Given the description of an element on the screen output the (x, y) to click on. 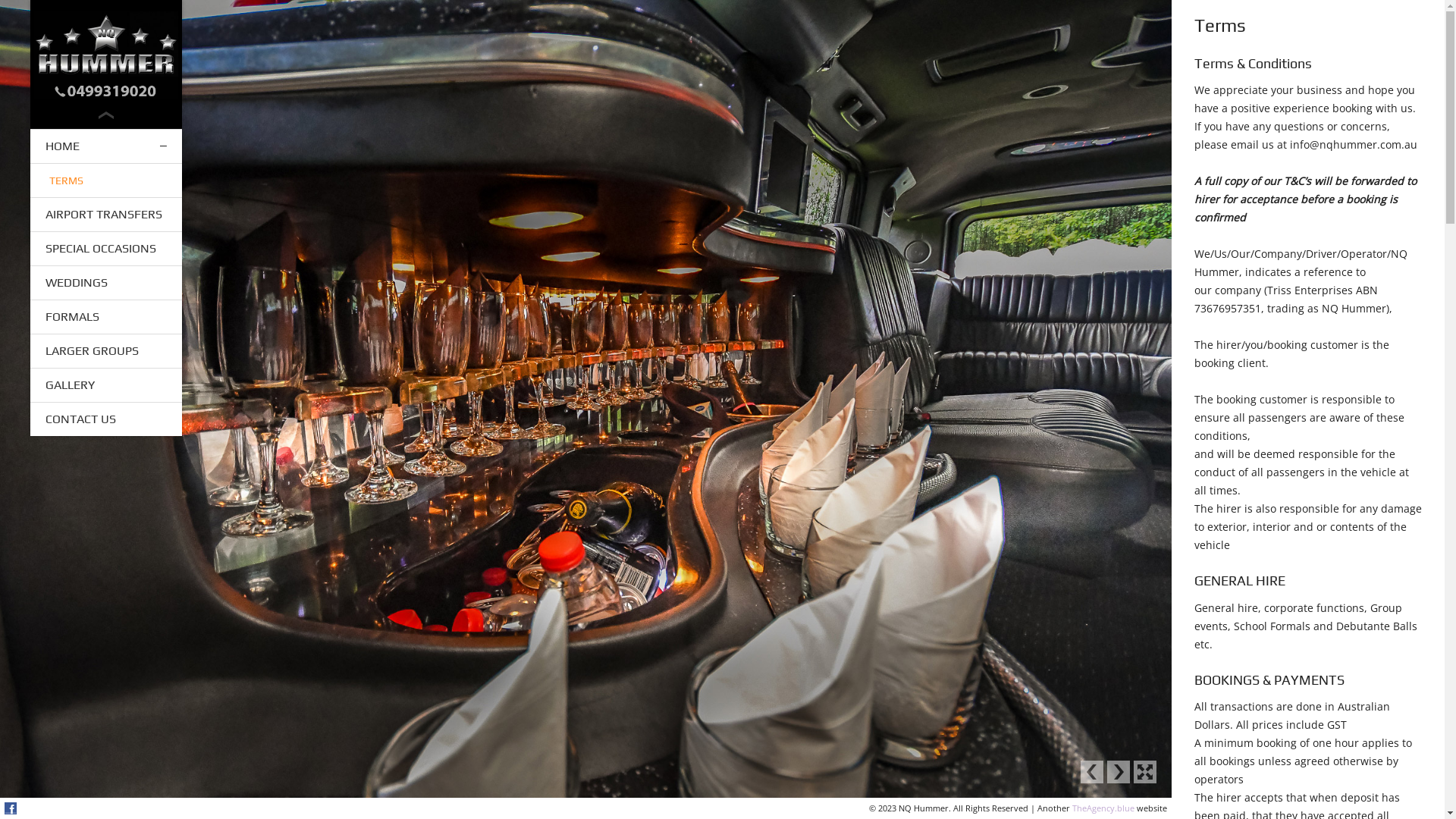
SPECIAL OCCASIONS Element type: text (106, 248)
LARGER GROUPS Element type: text (106, 350)
Stretch Hummer in Cairns | Stretch Hummer in Cairns Element type: hover (106, 54)
CONTACT US Element type: text (106, 419)
AIRPORT TRANSFERS Element type: text (106, 214)
WEDDINGS Element type: text (106, 282)
FORMALS Element type: text (106, 316)
TheAgency.blue Element type: text (1103, 807)
HOME Element type: text (106, 146)
GALLERY Element type: text (106, 384)
TERMS Element type: text (106, 180)
